Given the description of an element on the screen output the (x, y) to click on. 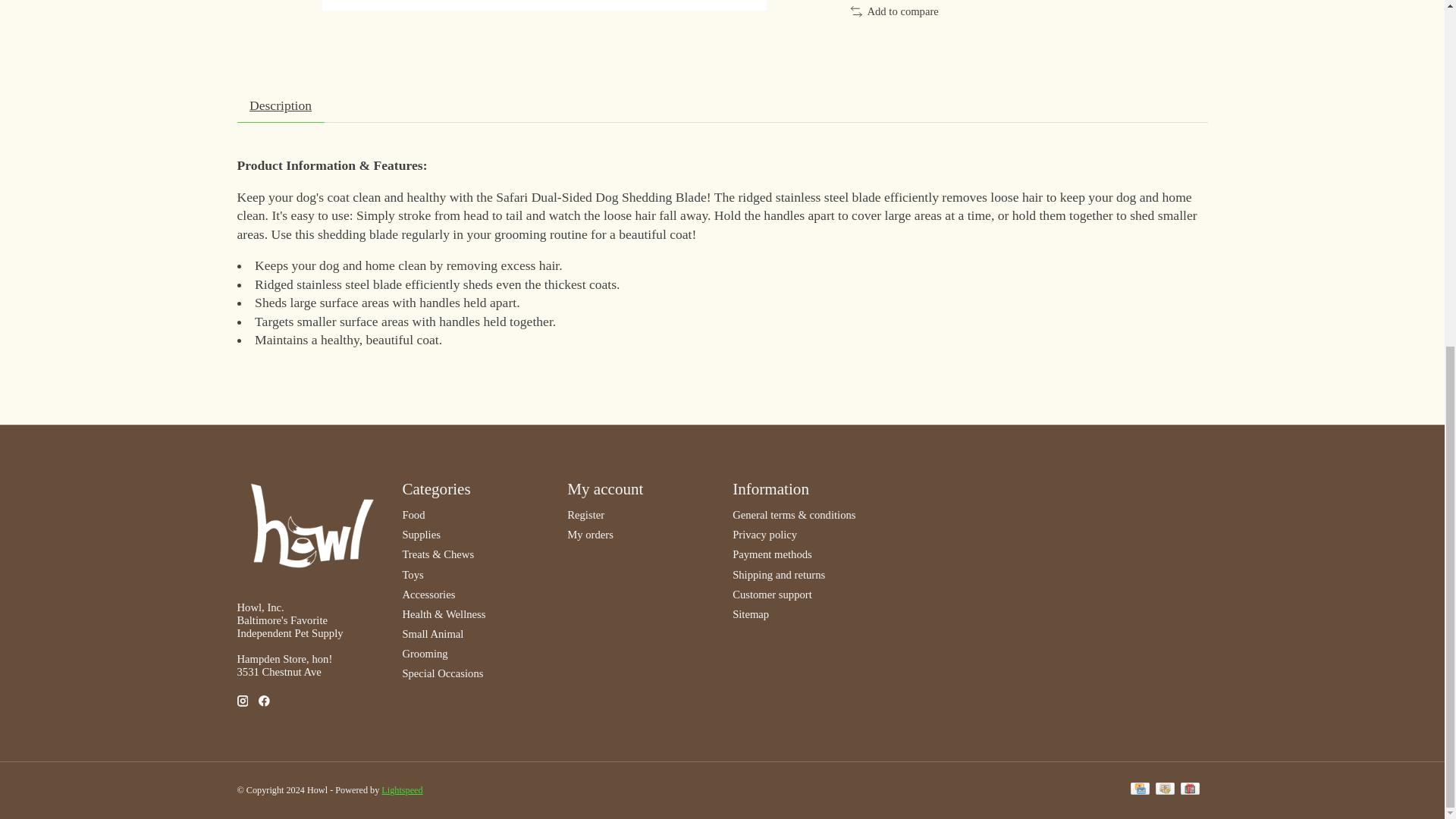
Payment methods (772, 553)
Shipping and returns (778, 574)
Register (585, 514)
My orders (589, 534)
Cash (1165, 789)
Privacy policy (764, 534)
Credit Card (1140, 789)
Giftcard (1188, 789)
Lightspeed (401, 789)
Customer support (772, 594)
Sitemap (750, 613)
